Given the description of an element on the screen output the (x, y) to click on. 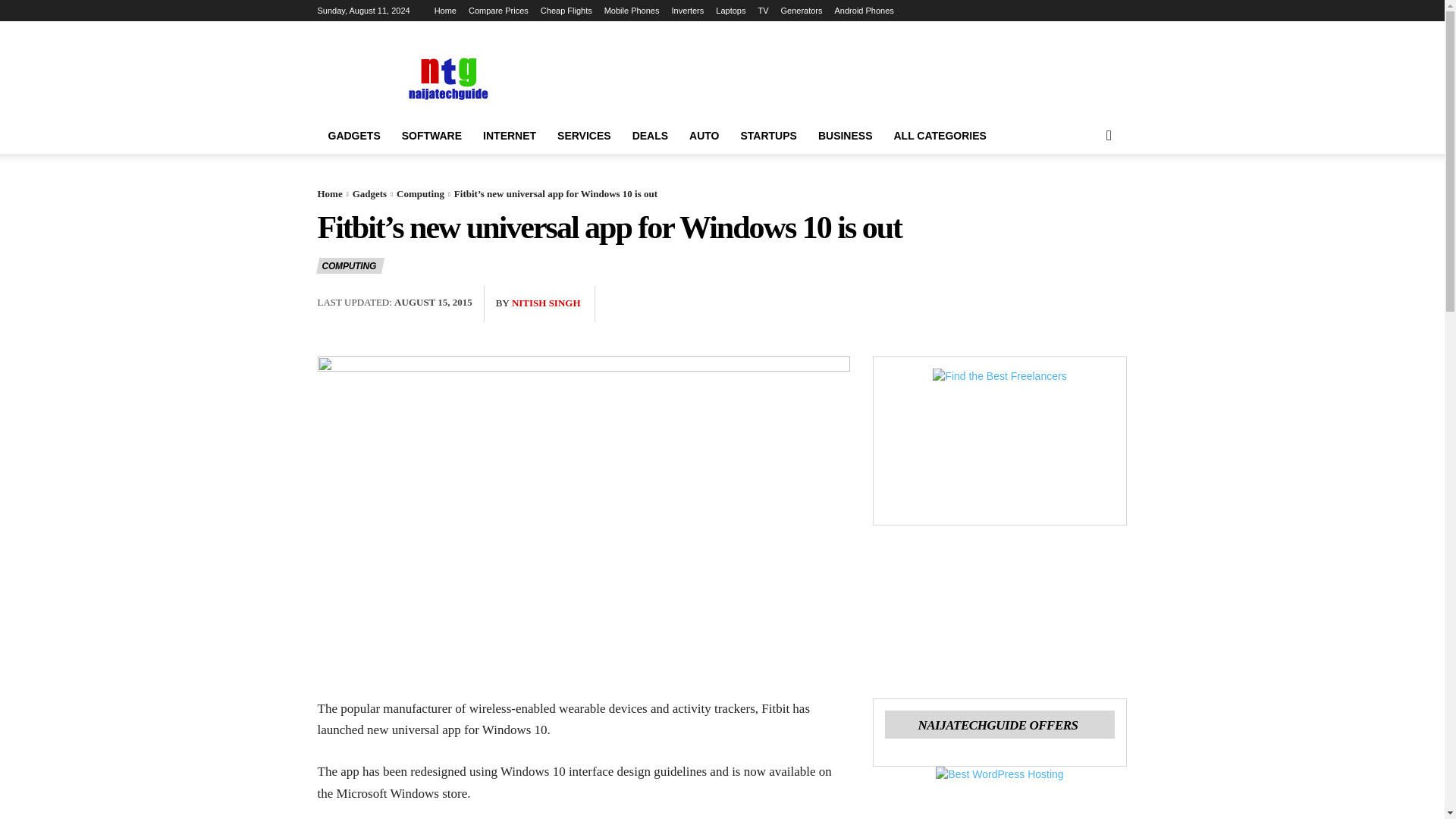
Laptops (730, 10)
Search (1085, 196)
SERVICES (584, 135)
SOFTWARE (431, 135)
Compare Prices (498, 10)
TV (762, 10)
Inverters (687, 10)
STARTUPS (767, 135)
Best TV Models (762, 10)
AUTO (703, 135)
